Given the description of an element on the screen output the (x, y) to click on. 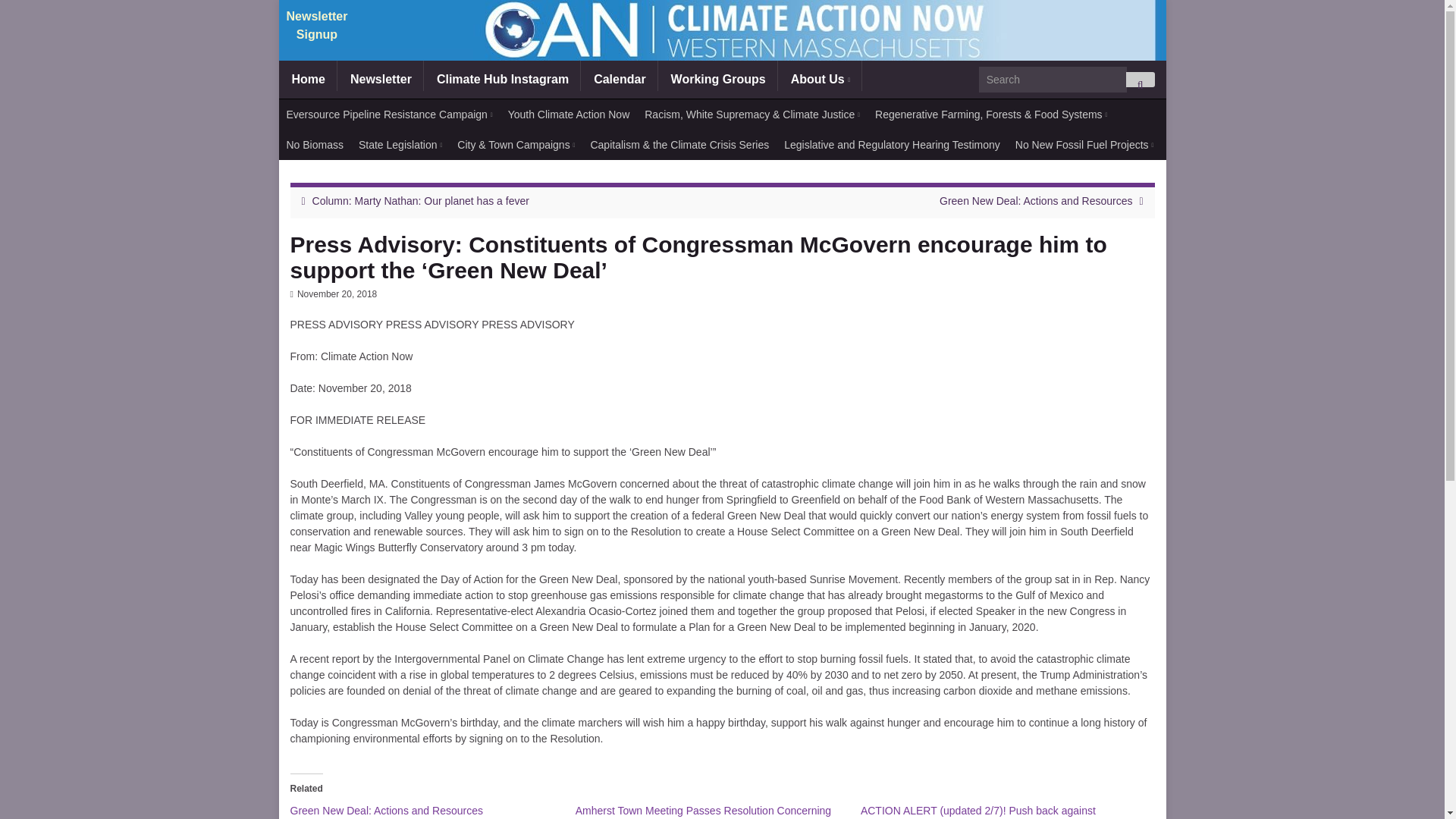
Newsletter (381, 79)
2018-11-20T17:02:40-05:00 (337, 294)
Climate Action Now Western Mass (722, 30)
Calendar (619, 79)
About Us (819, 79)
Amherst Town Meeting Passes Resolution Concerning Pipeline (703, 811)
Eversource Pipeline Resistance Campaign (389, 114)
Working Groups (718, 79)
Climate Hub Instagram (502, 79)
